Given the description of an element on the screen output the (x, y) to click on. 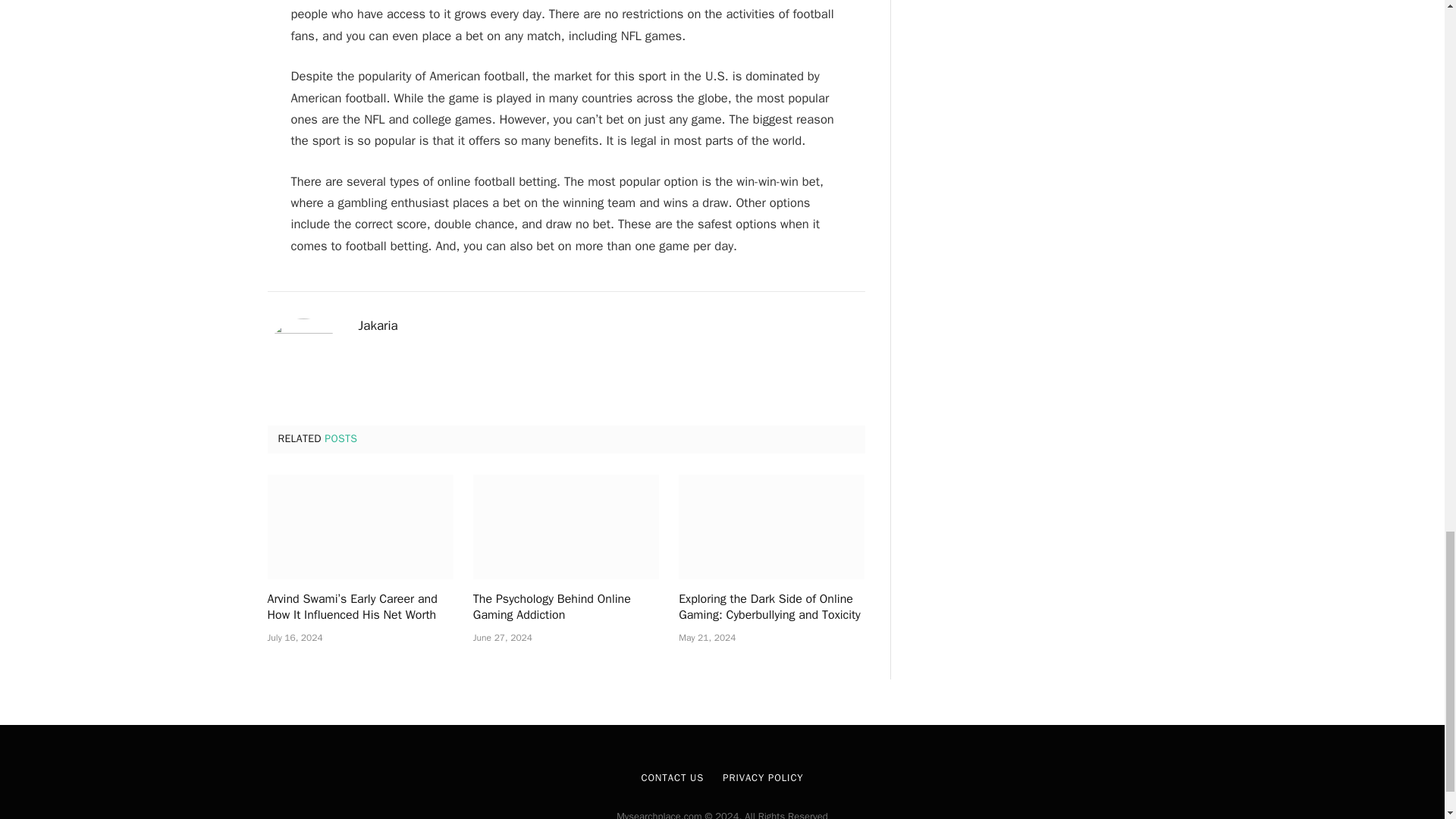
Jakaria (377, 325)
The Psychology Behind Online Gaming Addiction (566, 527)
Posts by Jakaria (377, 325)
The Psychology Behind Online Gaming Addiction (566, 607)
